Given the description of an element on the screen output the (x, y) to click on. 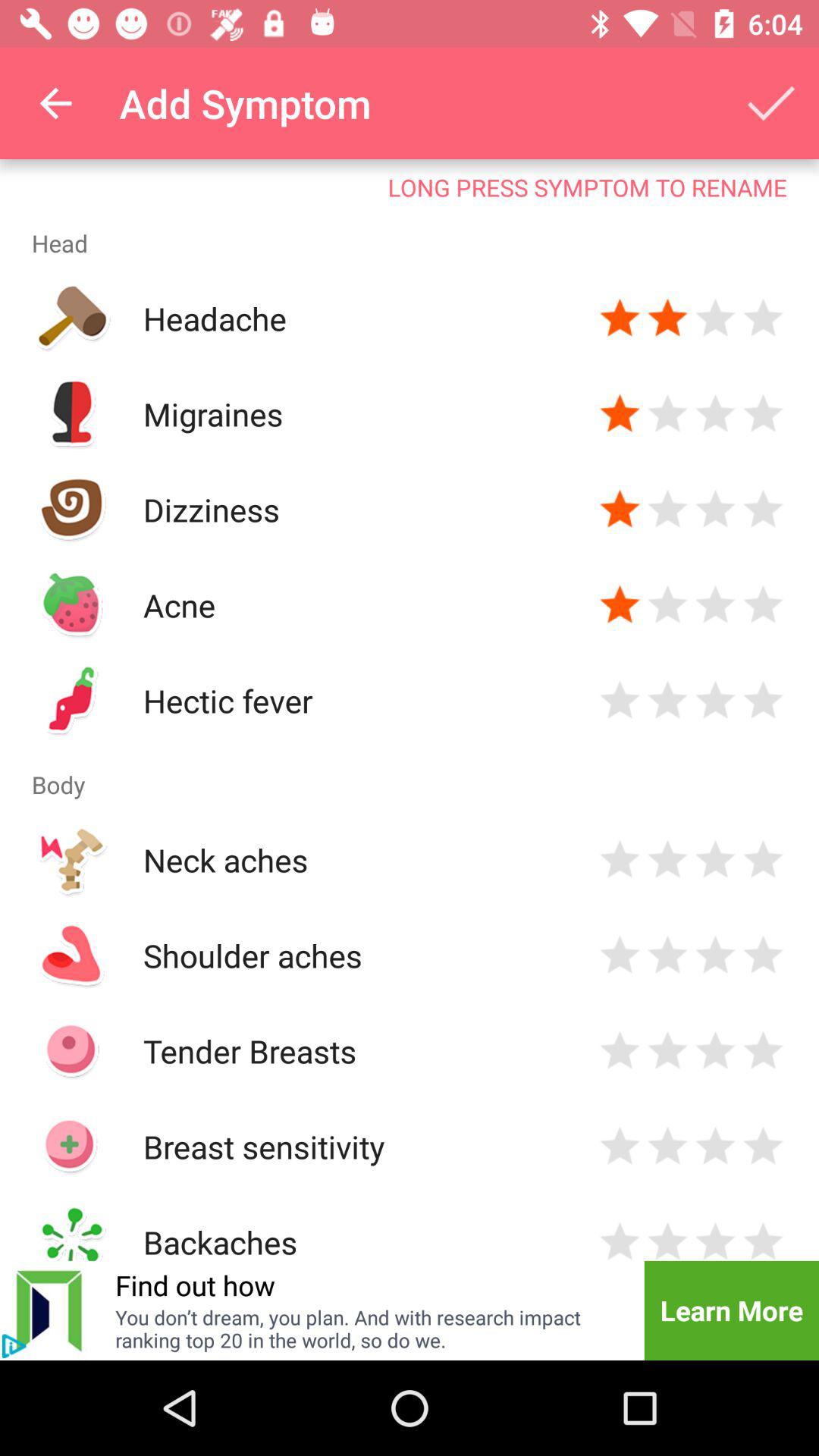
press to mute (14, 1346)
